Given the description of an element on the screen output the (x, y) to click on. 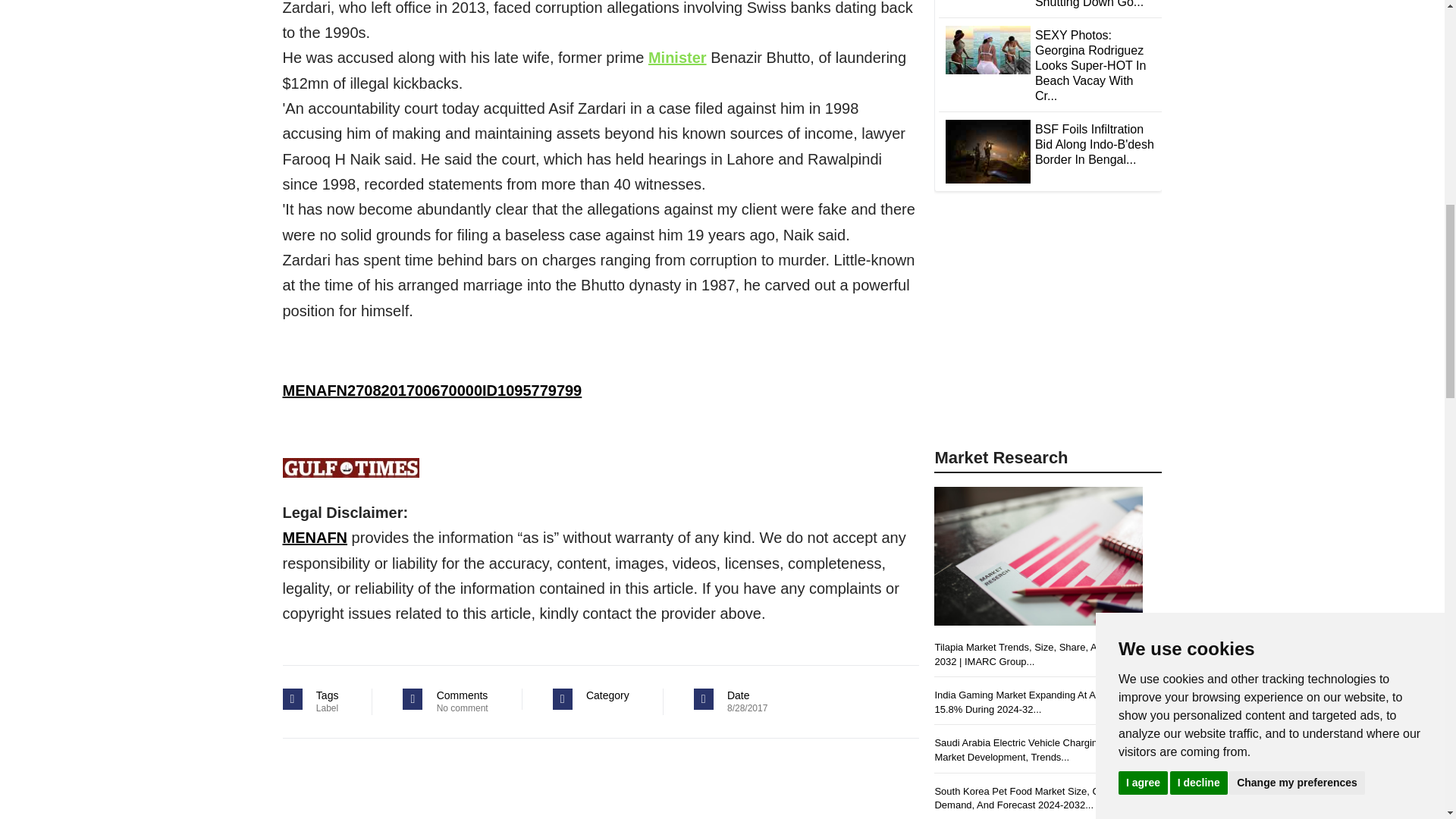
Advertisement (1047, 330)
